Given the description of an element on the screen output the (x, y) to click on. 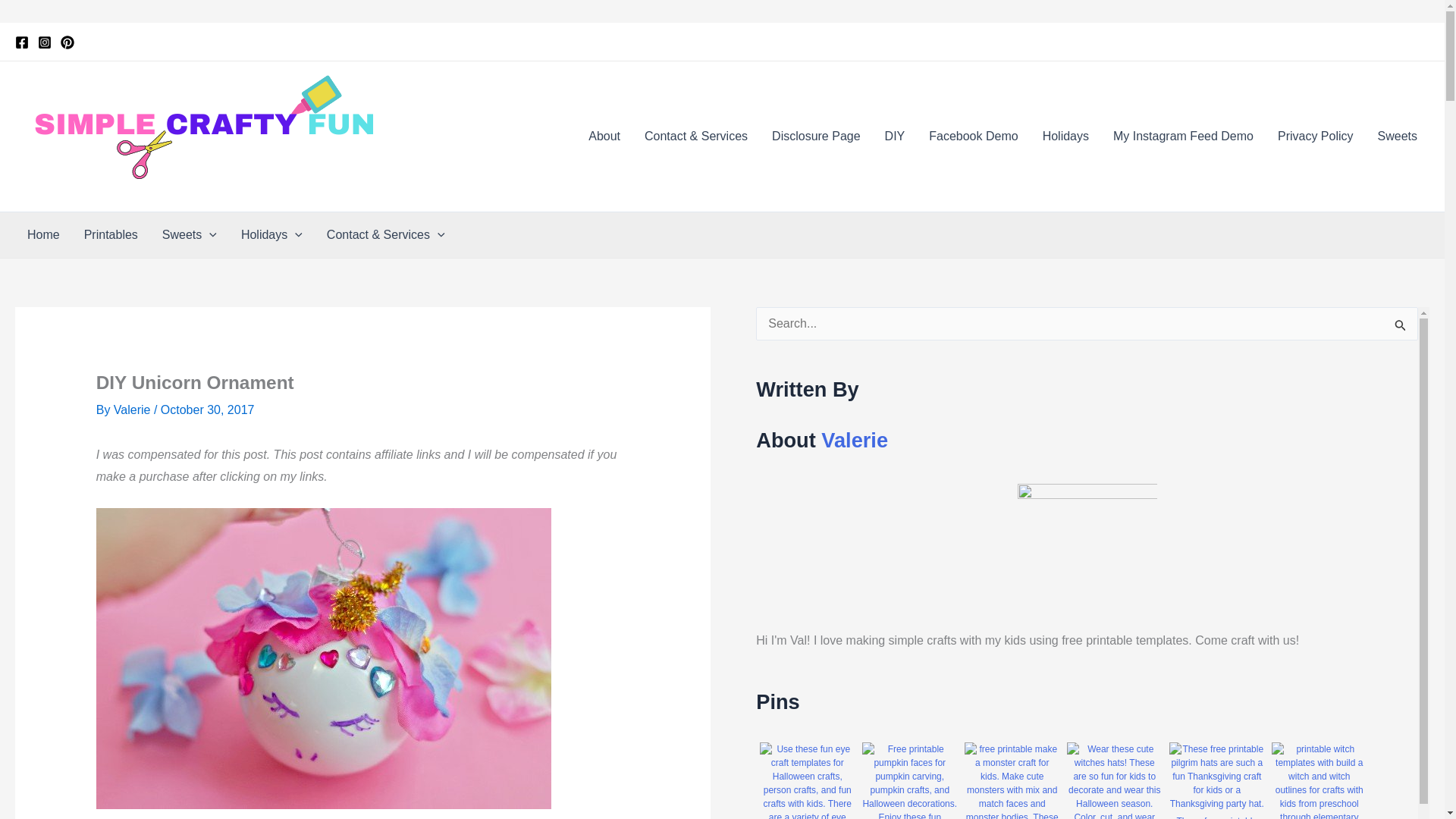
Privacy Policy (1315, 136)
Sweets (1397, 136)
About (603, 136)
Holidays (1065, 136)
Disclosure Page (816, 136)
